Given the description of an element on the screen output the (x, y) to click on. 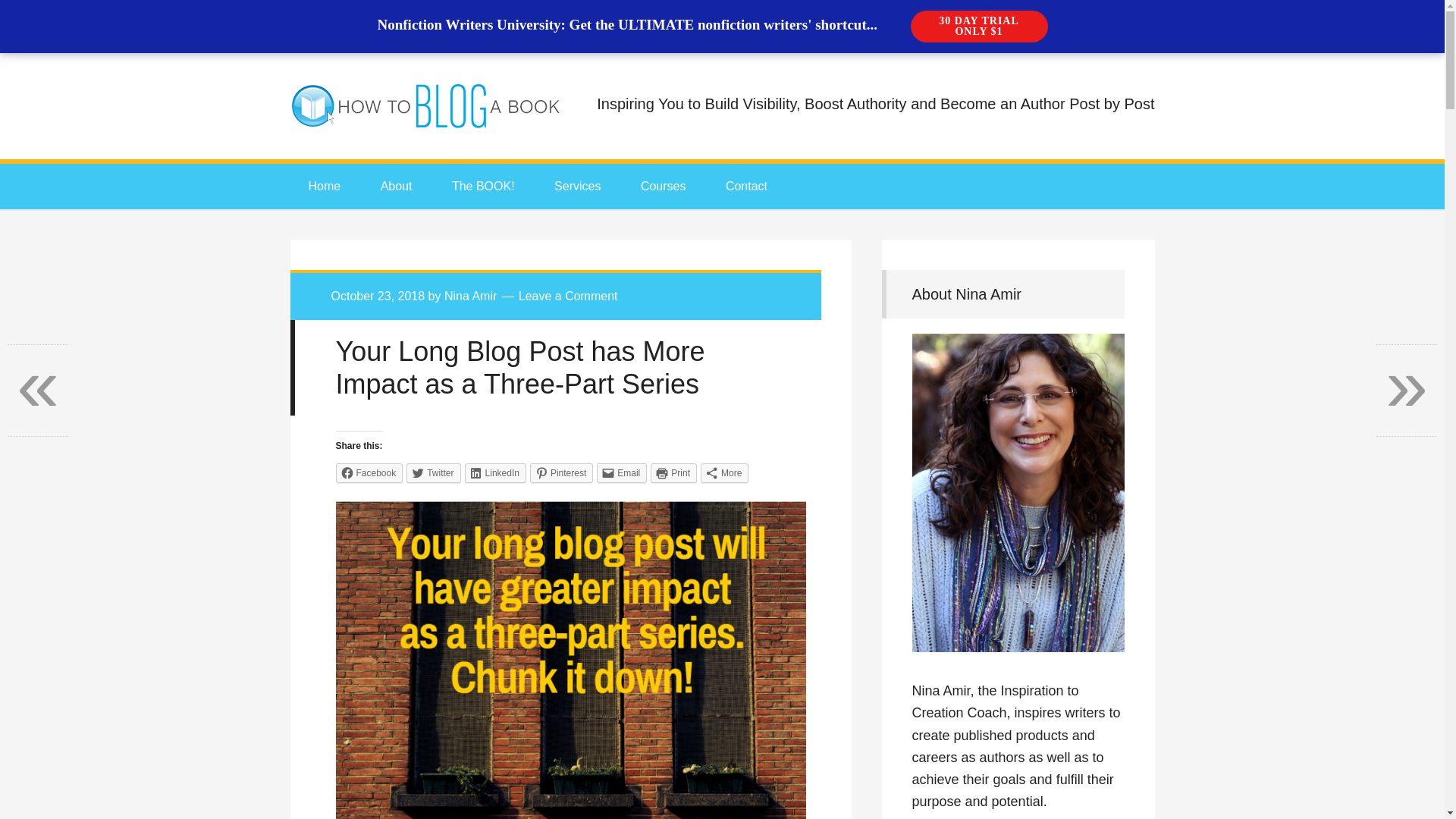
Click to email this to a friend (621, 473)
More (724, 473)
Contact (746, 186)
Print (673, 473)
LinkedIn (494, 473)
Facebook (368, 473)
Email (621, 473)
Home (323, 186)
Nina Amir (470, 295)
Pinterest (560, 473)
Twitter (433, 473)
Courses (663, 186)
Click to print (673, 473)
Click to share on Pinterest (560, 473)
About (396, 186)
